Given the description of an element on the screen output the (x, y) to click on. 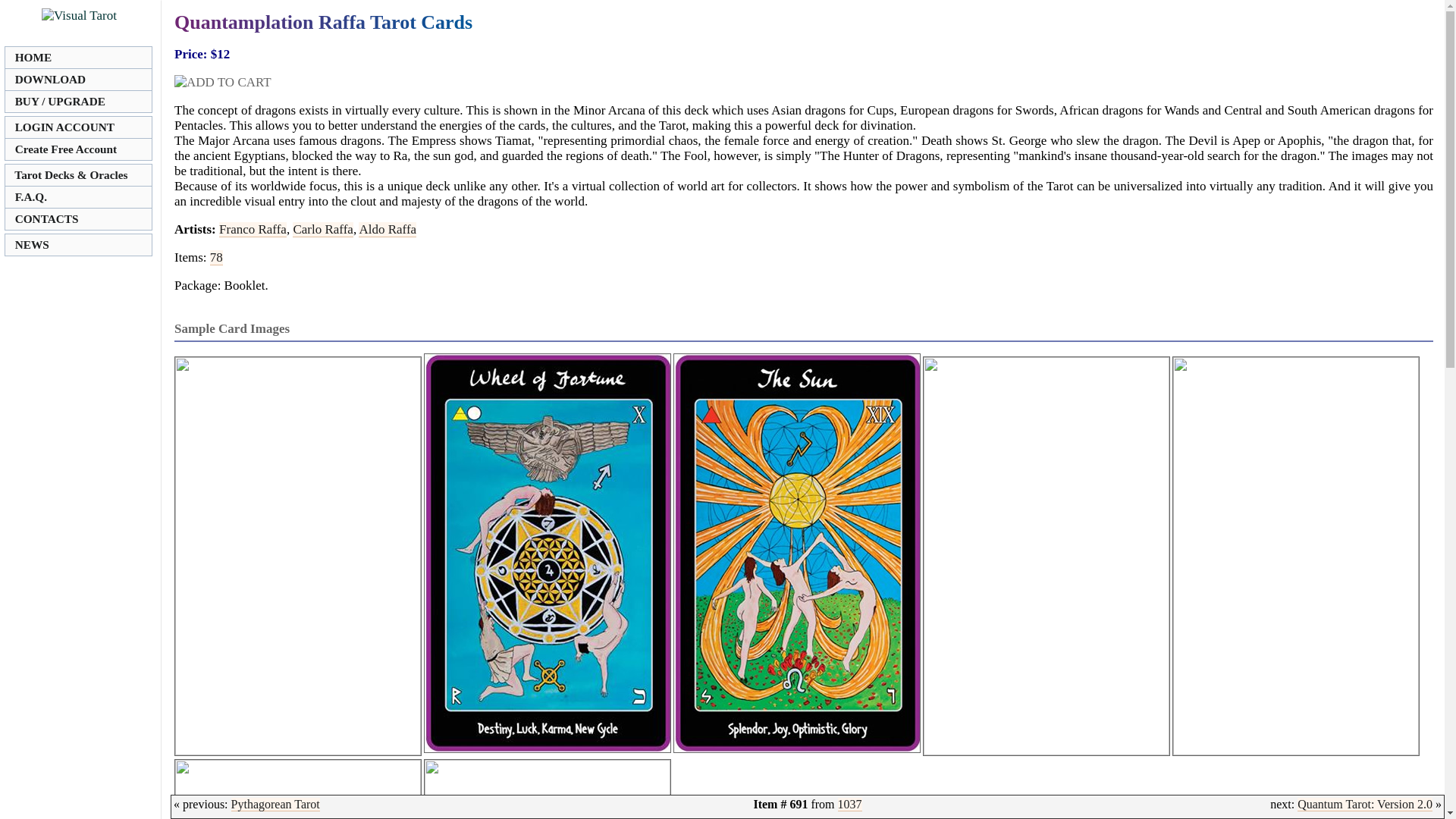
  LOGIN ACCOUNT (78, 127)
Quantum Tarot: Version 2.0 (1364, 804)
Aldo Raffa (387, 229)
  NEWS (78, 244)
  HOME (78, 56)
Franco Raffa (252, 229)
Pythagorean Tarot (275, 804)
  DOWNLOAD (78, 78)
  Create Free Account (78, 149)
  CONTACTS (78, 219)
  F.A.Q. (78, 196)
1037 (849, 804)
Carlo Raffa (322, 229)
